Given the description of an element on the screen output the (x, y) to click on. 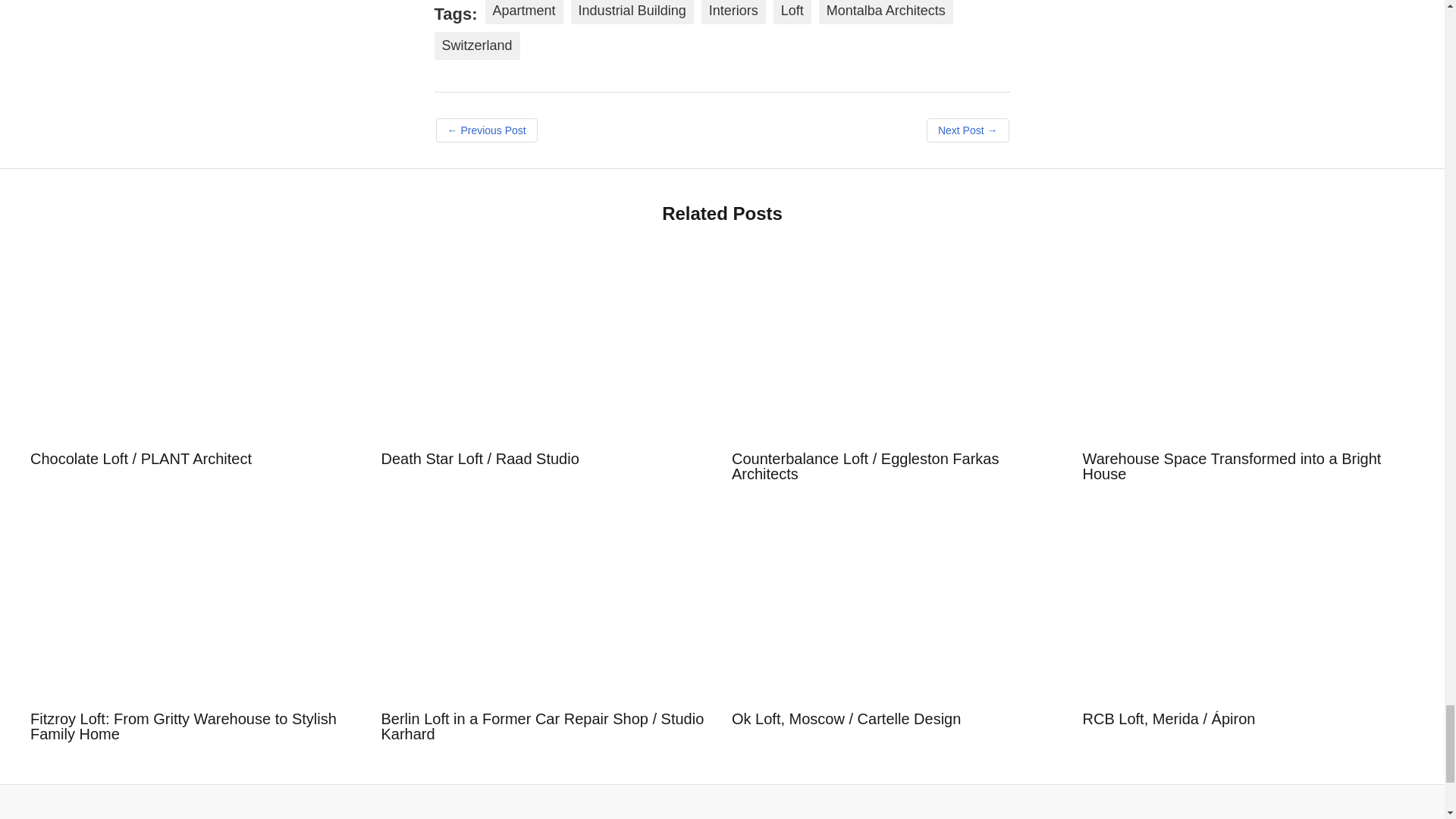
The Peakaboo House: Where Two Generations Coexist in Style (967, 129)
Fortunata House by Luciano Lerner Basso (486, 129)
